Given the description of an element on the screen output the (x, y) to click on. 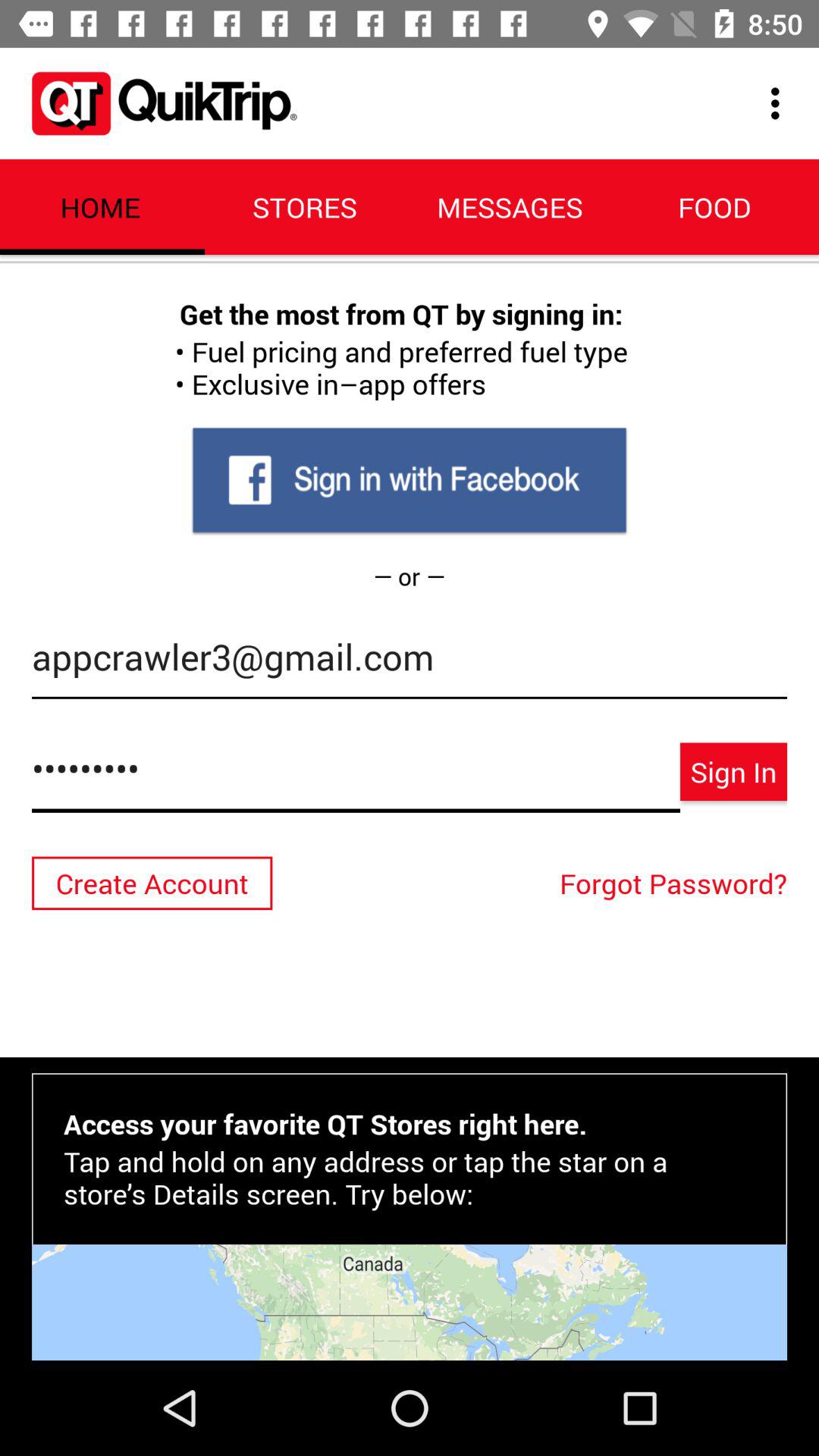
select icon below tap and hold item (409, 1302)
